Given the description of an element on the screen output the (x, y) to click on. 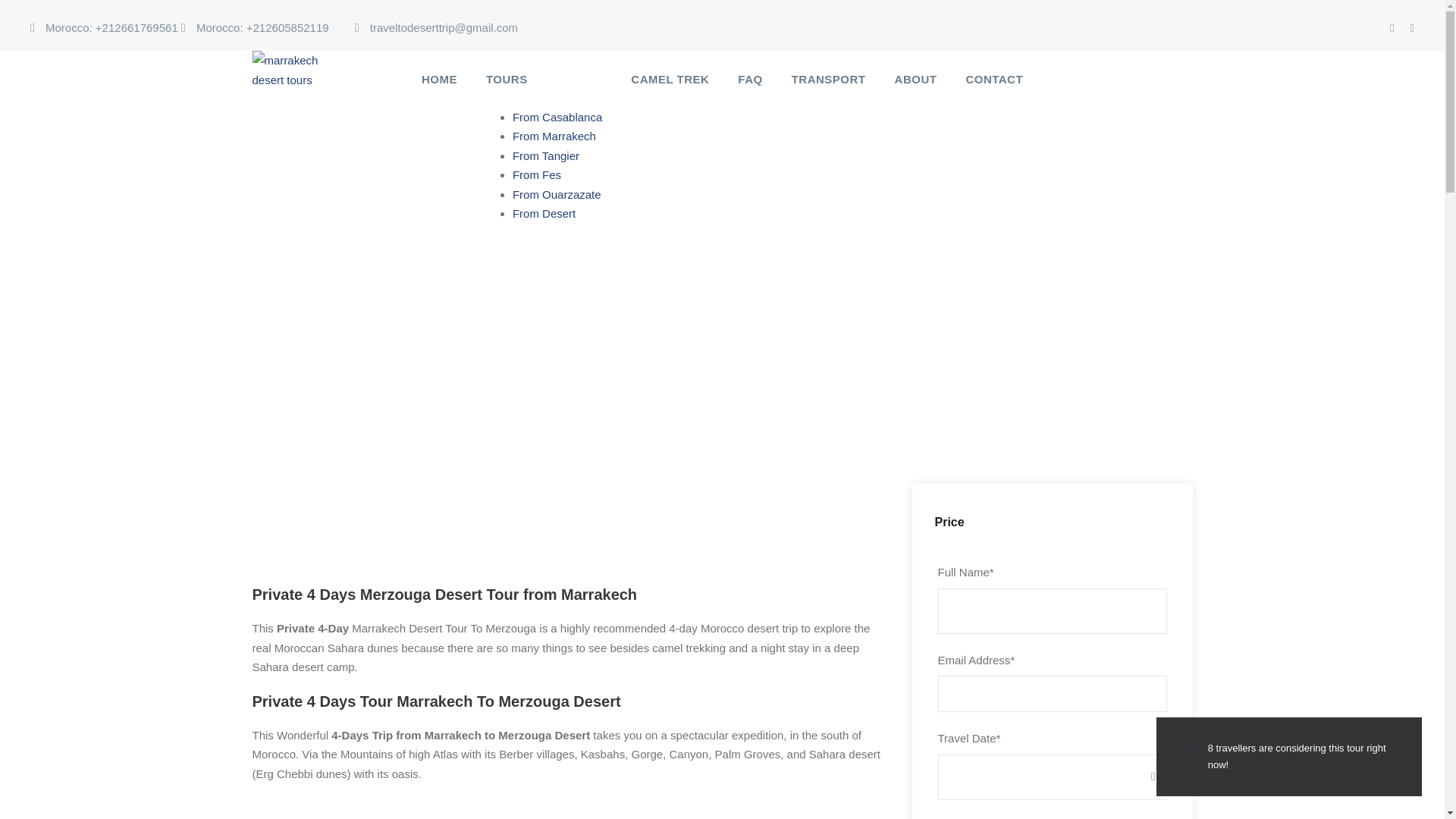
facebook (1391, 27)
From Casablanca (557, 116)
From Desert (543, 213)
HOME (439, 88)
TRANSPORT (829, 88)
From Ouarzazate (556, 194)
CAMEL TREK (669, 88)
ABOUT (916, 88)
logo-travel-to-desert-1 (289, 69)
From Tangier (545, 154)
TOURS (544, 88)
instagram (1411, 27)
From Fes (536, 174)
FAQ (749, 88)
CONTACT (994, 88)
